Given the description of an element on the screen output the (x, y) to click on. 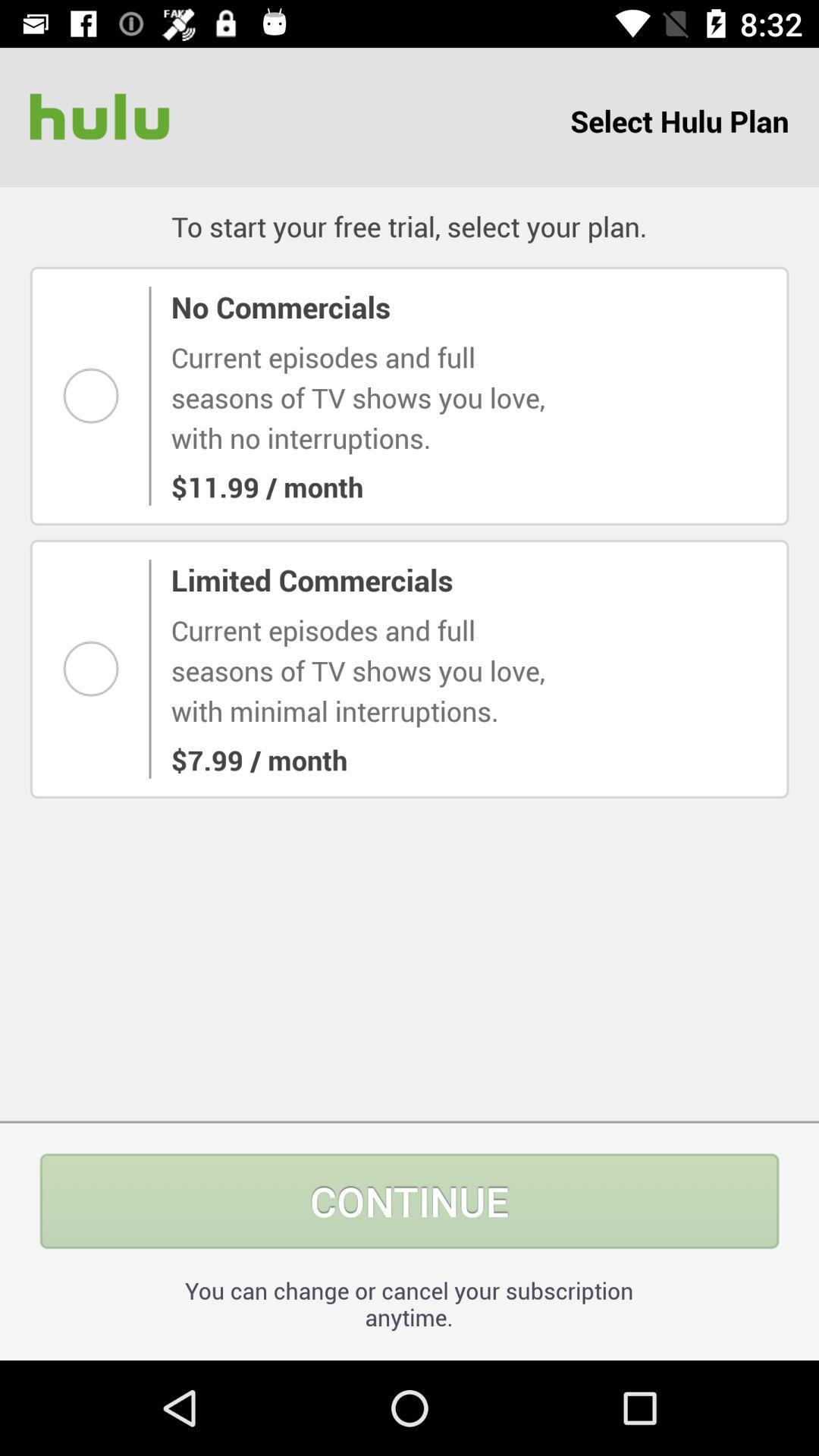
option selection radio button (96, 395)
